Given the description of an element on the screen output the (x, y) to click on. 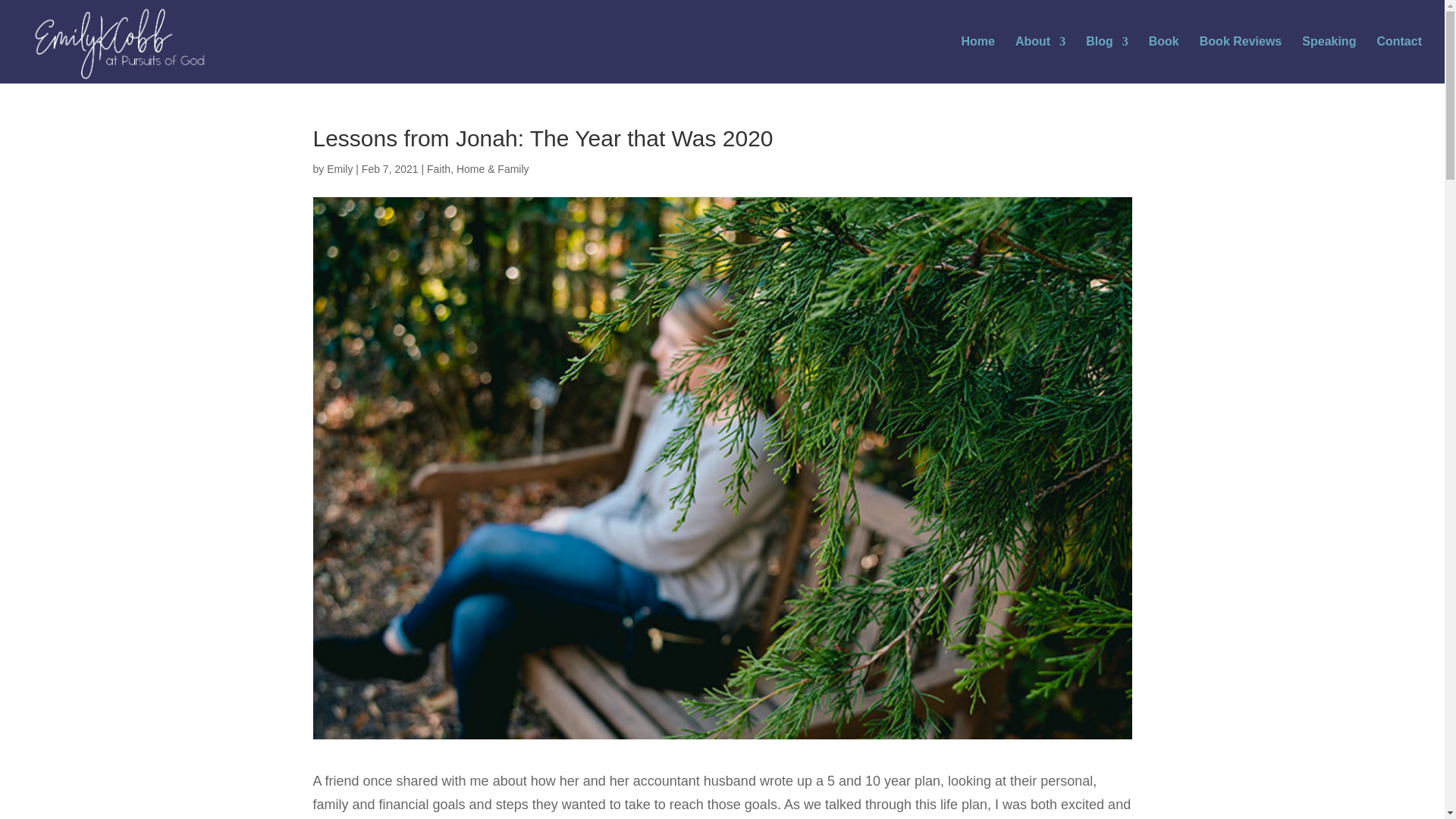
Contact (1398, 59)
Faith (437, 168)
Speaking (1328, 59)
Book Reviews (1240, 59)
Posts by Emily (339, 168)
Emily (339, 168)
About (1039, 59)
Blog (1107, 59)
